Given the description of an element on the screen output the (x, y) to click on. 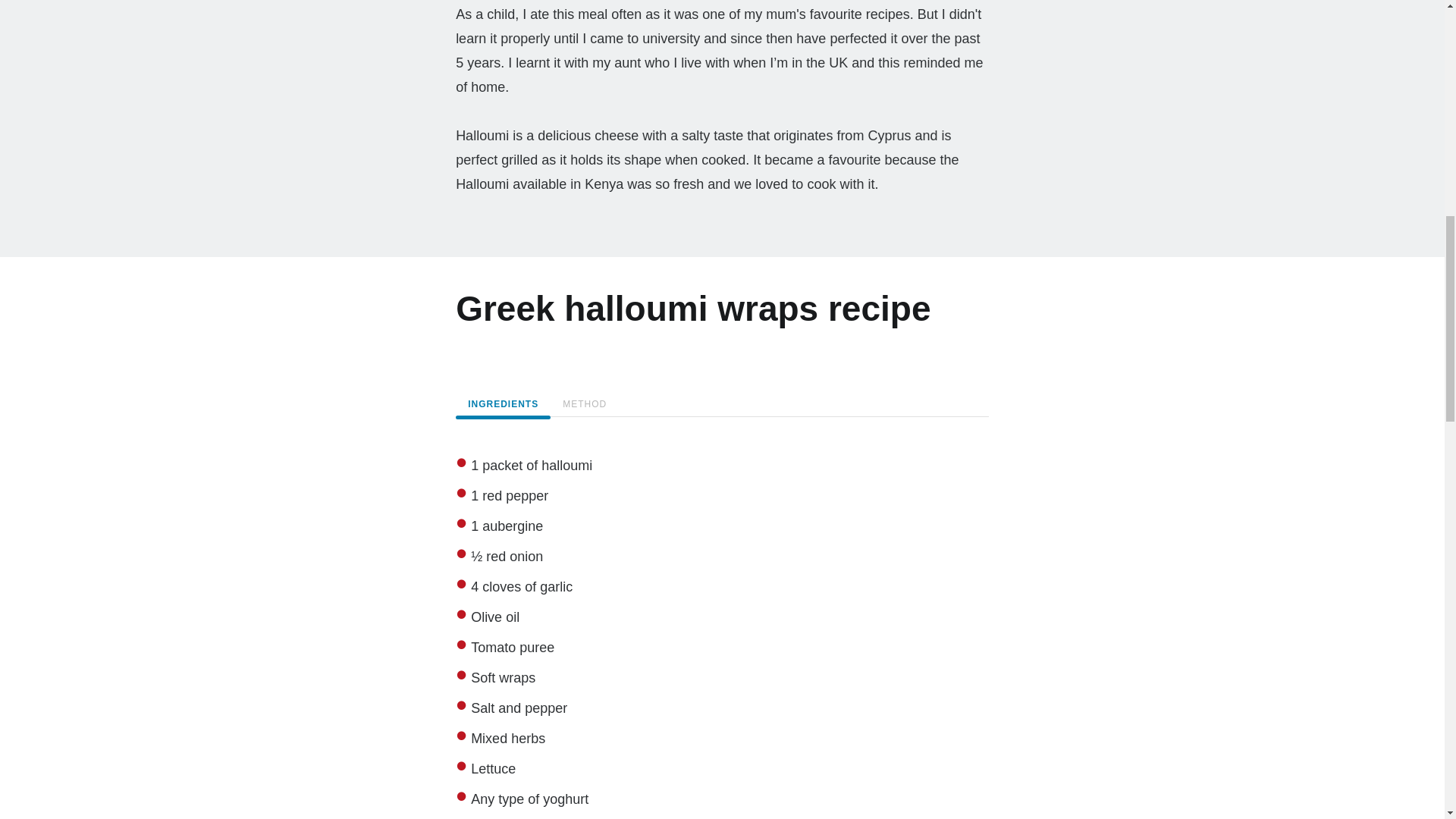
Method (584, 403)
Ingredients  (502, 403)
